Given the description of an element on the screen output the (x, y) to click on. 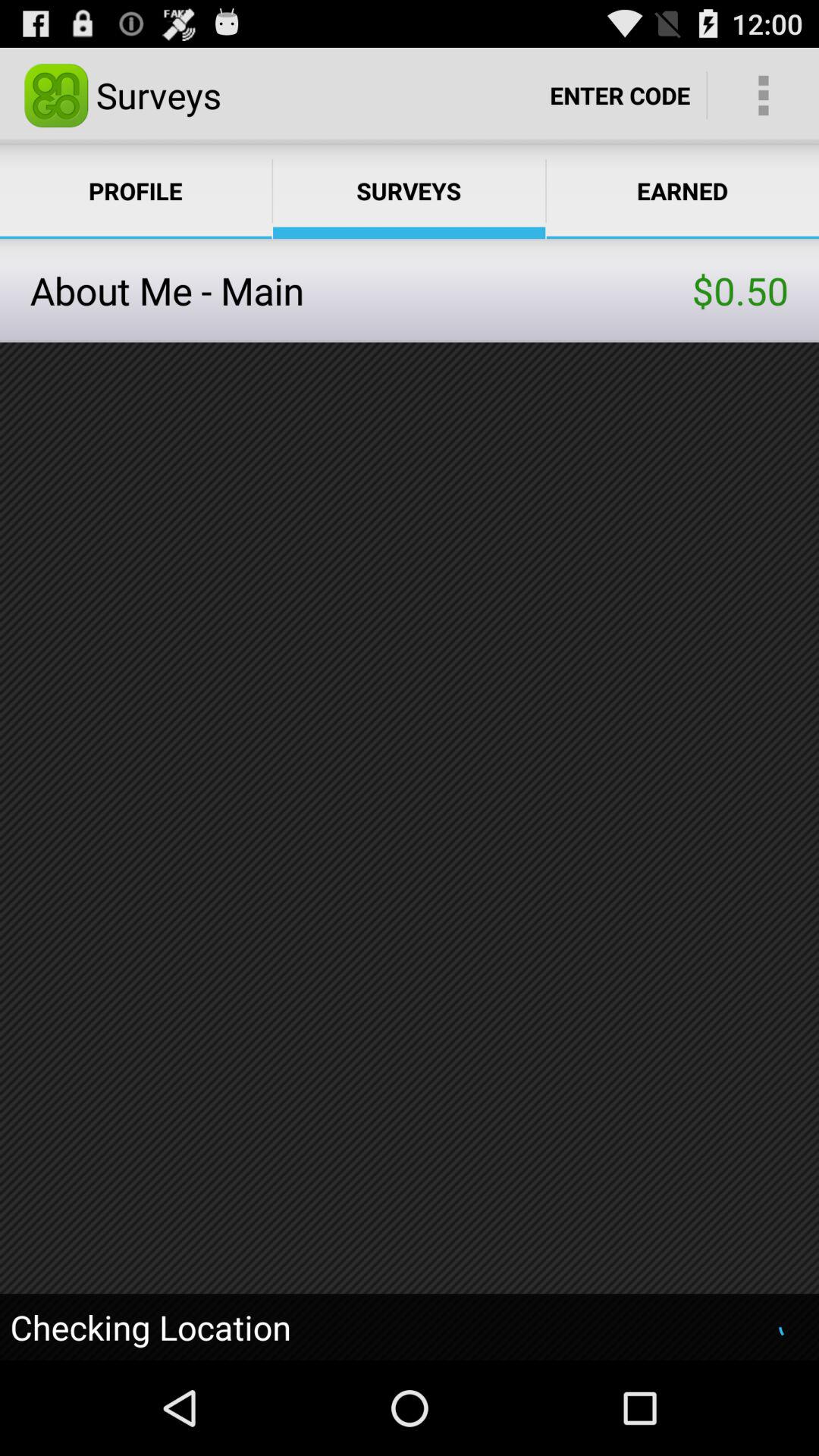
select app above earned app (763, 95)
